Given the description of an element on the screen output the (x, y) to click on. 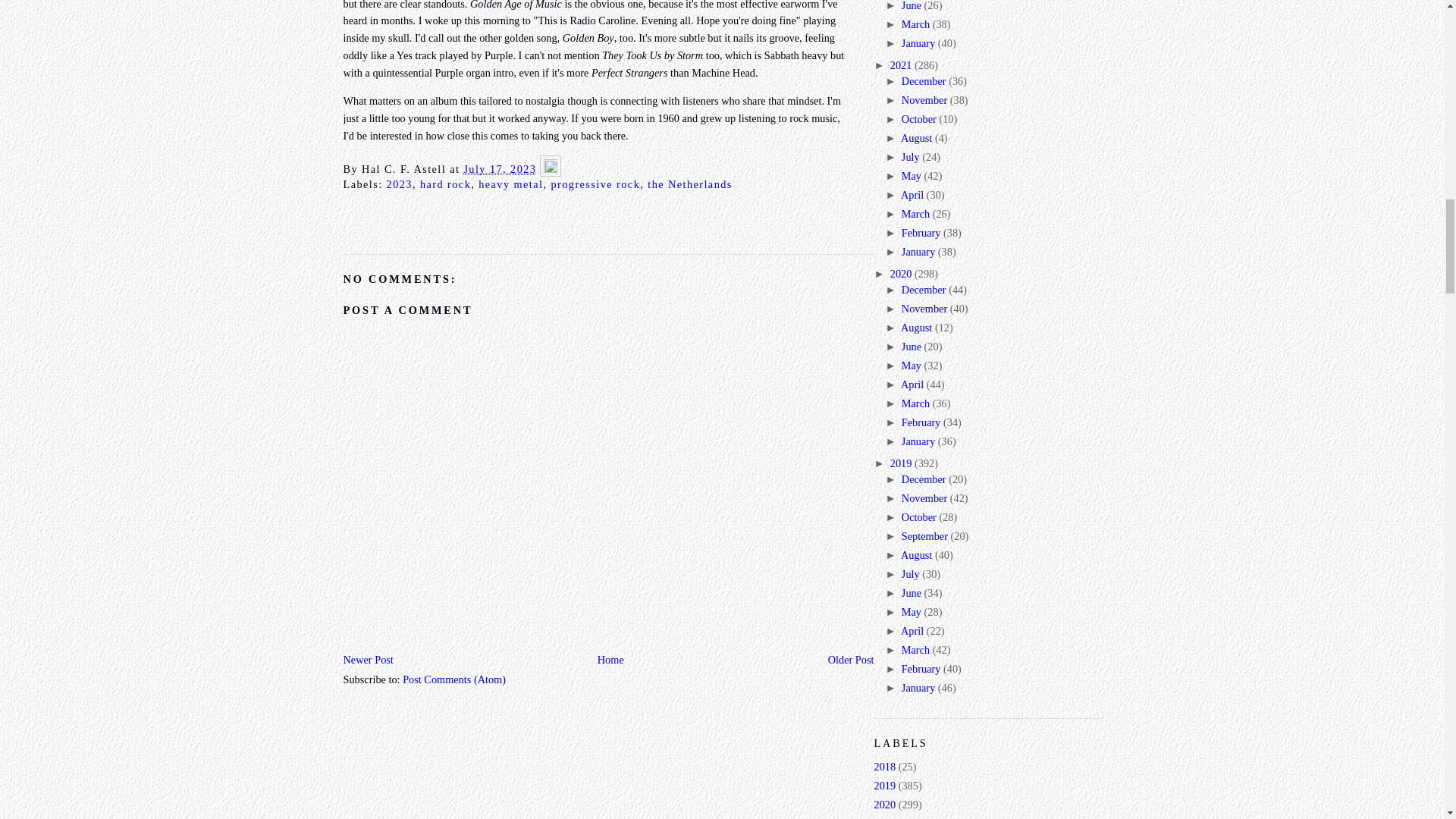
hard rock (445, 184)
Older Post (851, 659)
Home (610, 659)
July 17, 2023 (499, 168)
2023 (399, 184)
Newer Post (367, 659)
Edit Post (550, 168)
the Netherlands (689, 184)
heavy metal (511, 184)
permanent link (499, 168)
Newer Post (367, 659)
progressive rock (595, 184)
Older Post (851, 659)
